Given the description of an element on the screen output the (x, y) to click on. 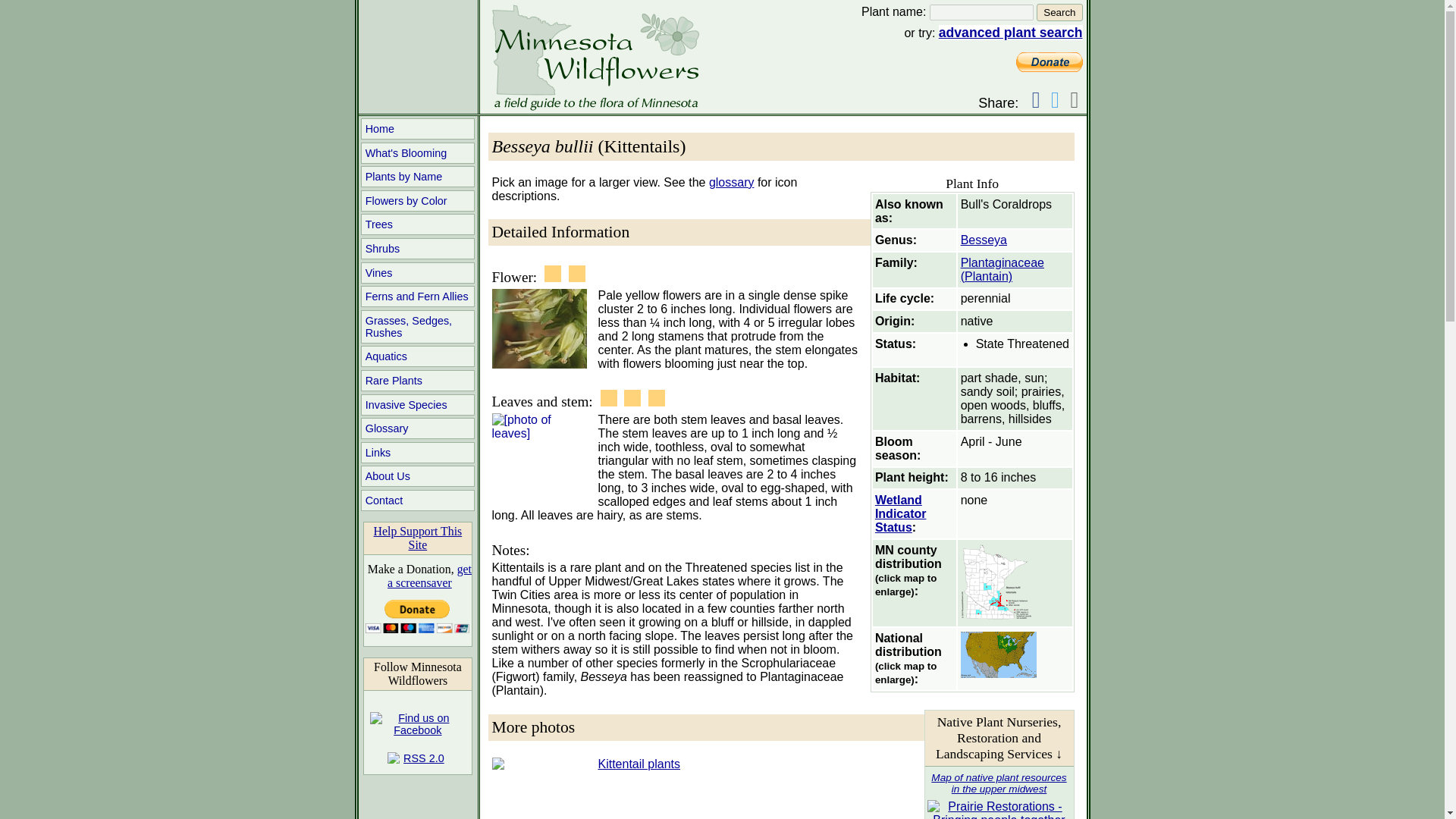
Aquatics (417, 355)
Map of native plant resources in the upper midwest (998, 783)
Wetland Indicator Status (900, 513)
Home (417, 128)
Flower shape: irregular (552, 273)
What's Blooming (417, 152)
PayPal - The safer, easier way to pay online! (416, 616)
Besseya (983, 239)
Grasses, Sedges, Rushes (417, 326)
advanced plant search (1011, 32)
